Given the description of an element on the screen output the (x, y) to click on. 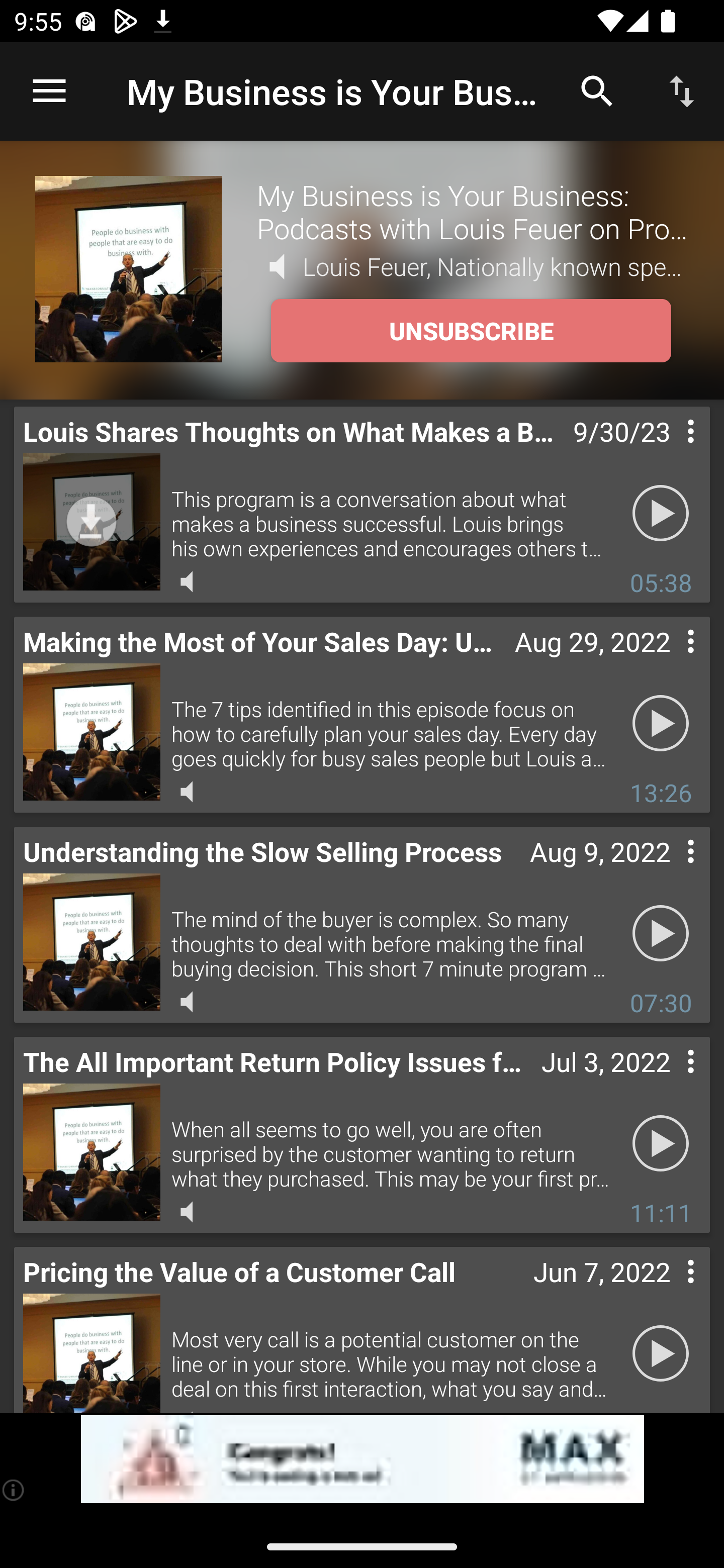
Open navigation sidebar (49, 91)
Search (597, 90)
Sort (681, 90)
UNSUBSCRIBE (470, 330)
Contextual menu (668, 451)
Play (660, 513)
Contextual menu (668, 661)
Play (660, 723)
Contextual menu (668, 870)
Play (660, 933)
Contextual menu (668, 1080)
Play (660, 1143)
Contextual menu (668, 1290)
Play (660, 1353)
app-monetization (362, 1459)
(i) (14, 1489)
